Given the description of an element on the screen output the (x, y) to click on. 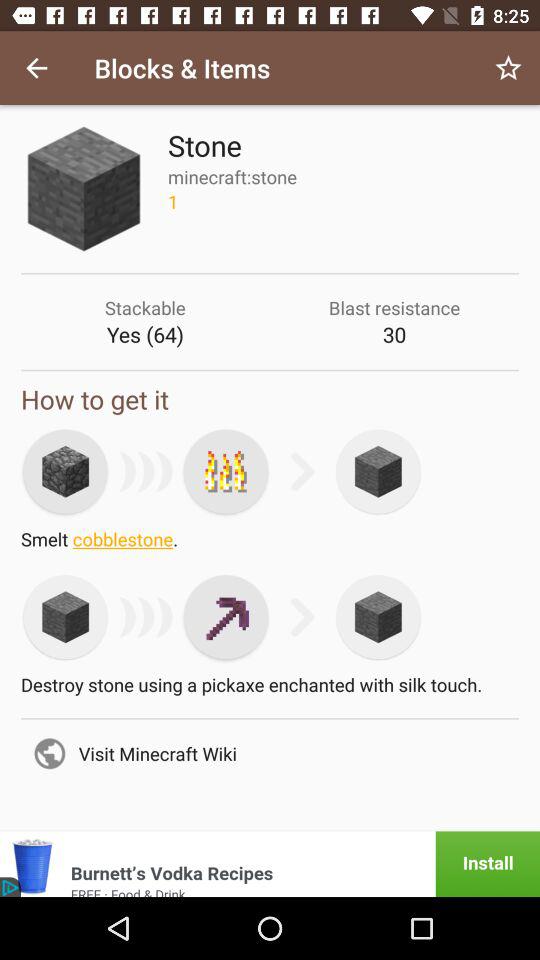
launch icon next to blocks & items (508, 67)
